Given the description of an element on the screen output the (x, y) to click on. 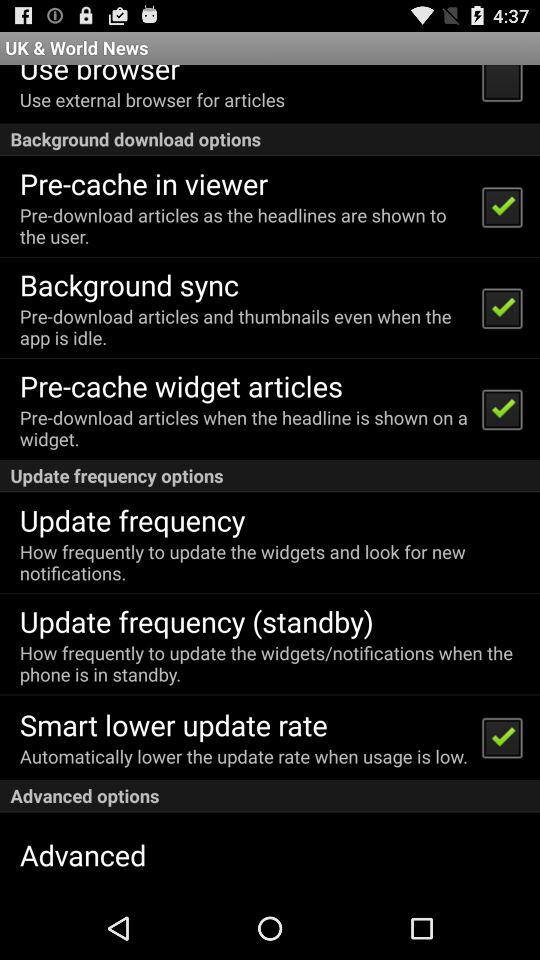
select item above advanced icon (270, 796)
